Given the description of an element on the screen output the (x, y) to click on. 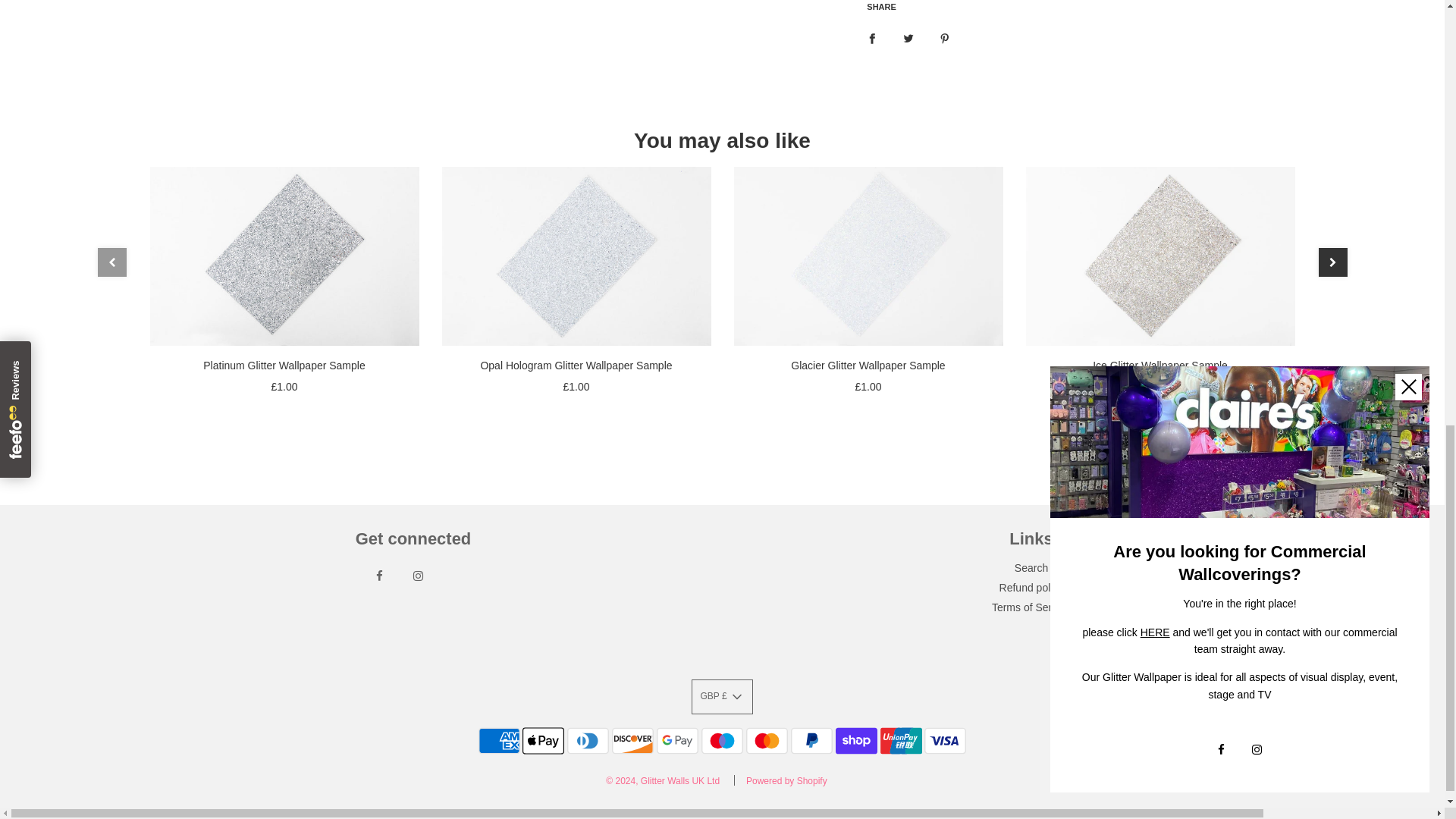
Platinum Glitter Wallpaper Sample (284, 256)
Glacier Glitter Wallpaper Sample (868, 256)
Ice Glitter Wallpaper Sample (1159, 256)
Opal Hologram Glitter Wallpaper Sample (575, 256)
Visa (945, 740)
Maestro (721, 740)
Diners Club (587, 740)
American Express (499, 740)
Google Pay (677, 740)
PayPal (811, 740)
Union Pay (900, 740)
Mastercard (766, 740)
Apple Pay (543, 740)
Shop Pay (856, 740)
Discover (632, 740)
